Given the description of an element on the screen output the (x, y) to click on. 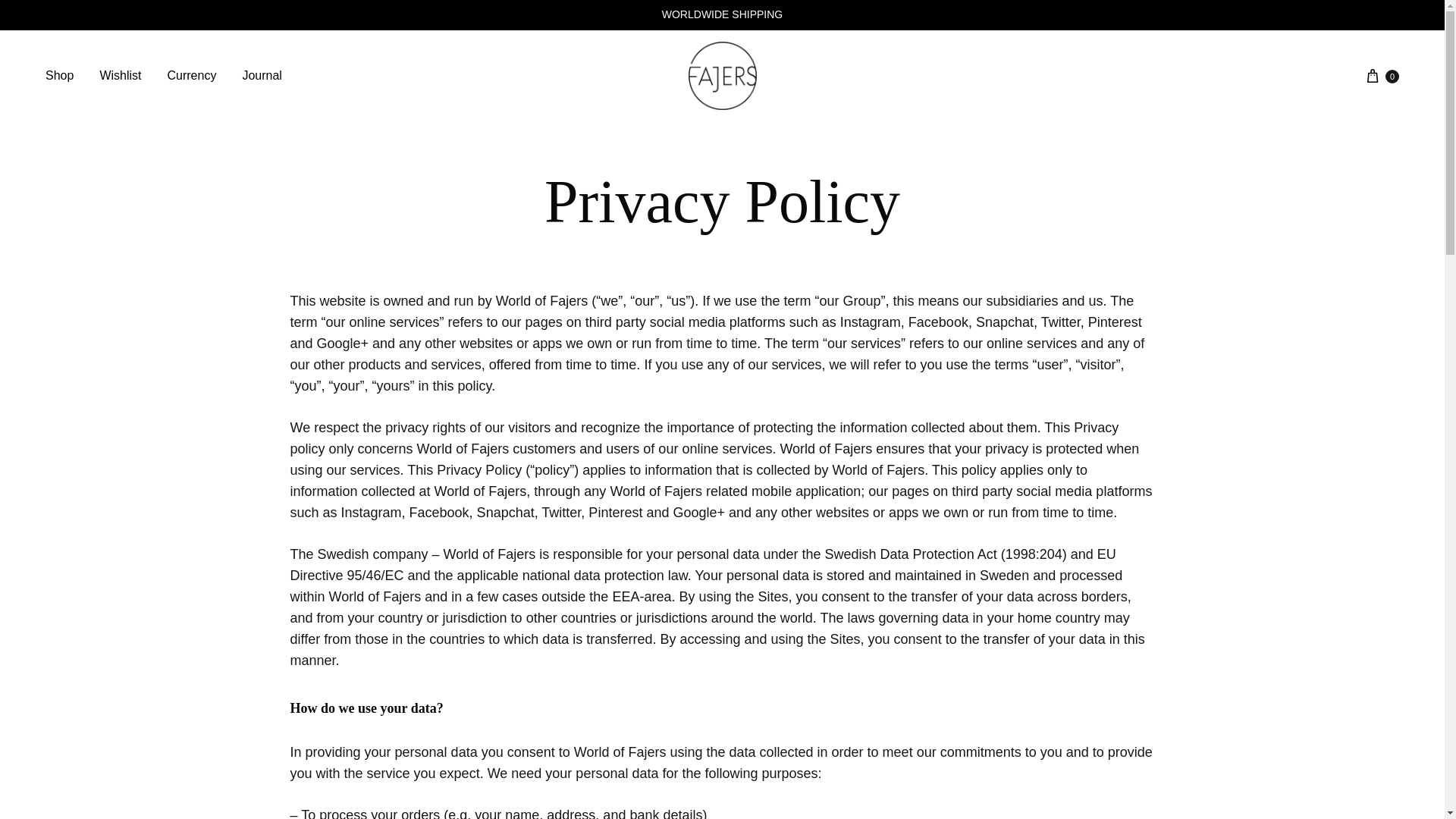
Journal (261, 75)
Currency (191, 75)
0 (1380, 75)
Shop (59, 75)
Wishlist (120, 75)
